Given the description of an element on the screen output the (x, y) to click on. 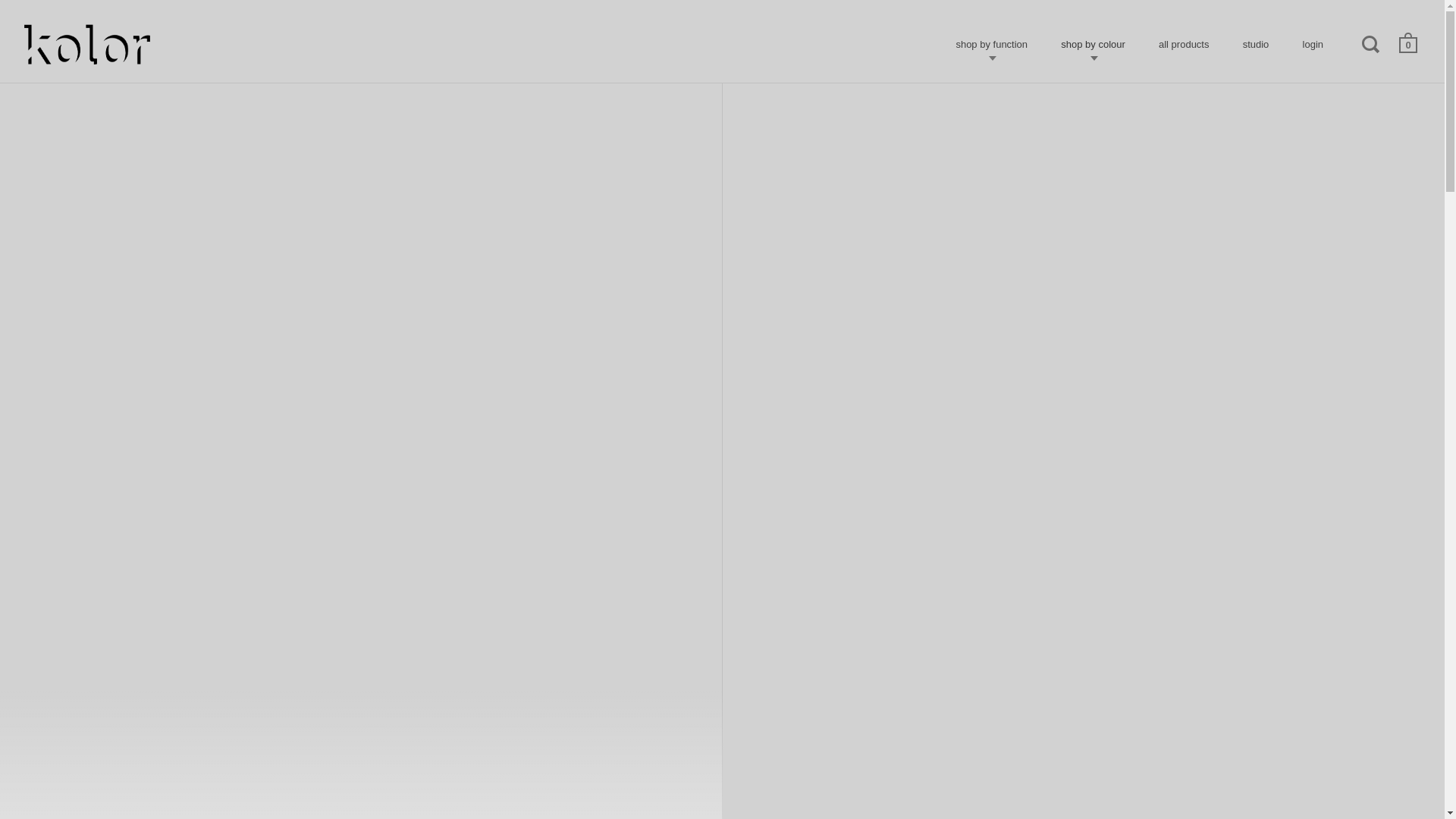
shop by colour (1092, 43)
shop by function (991, 43)
all products (1183, 43)
Open search (1371, 44)
Open cart (1409, 43)
studio (1255, 43)
login (1312, 43)
